Given the description of an element on the screen output the (x, y) to click on. 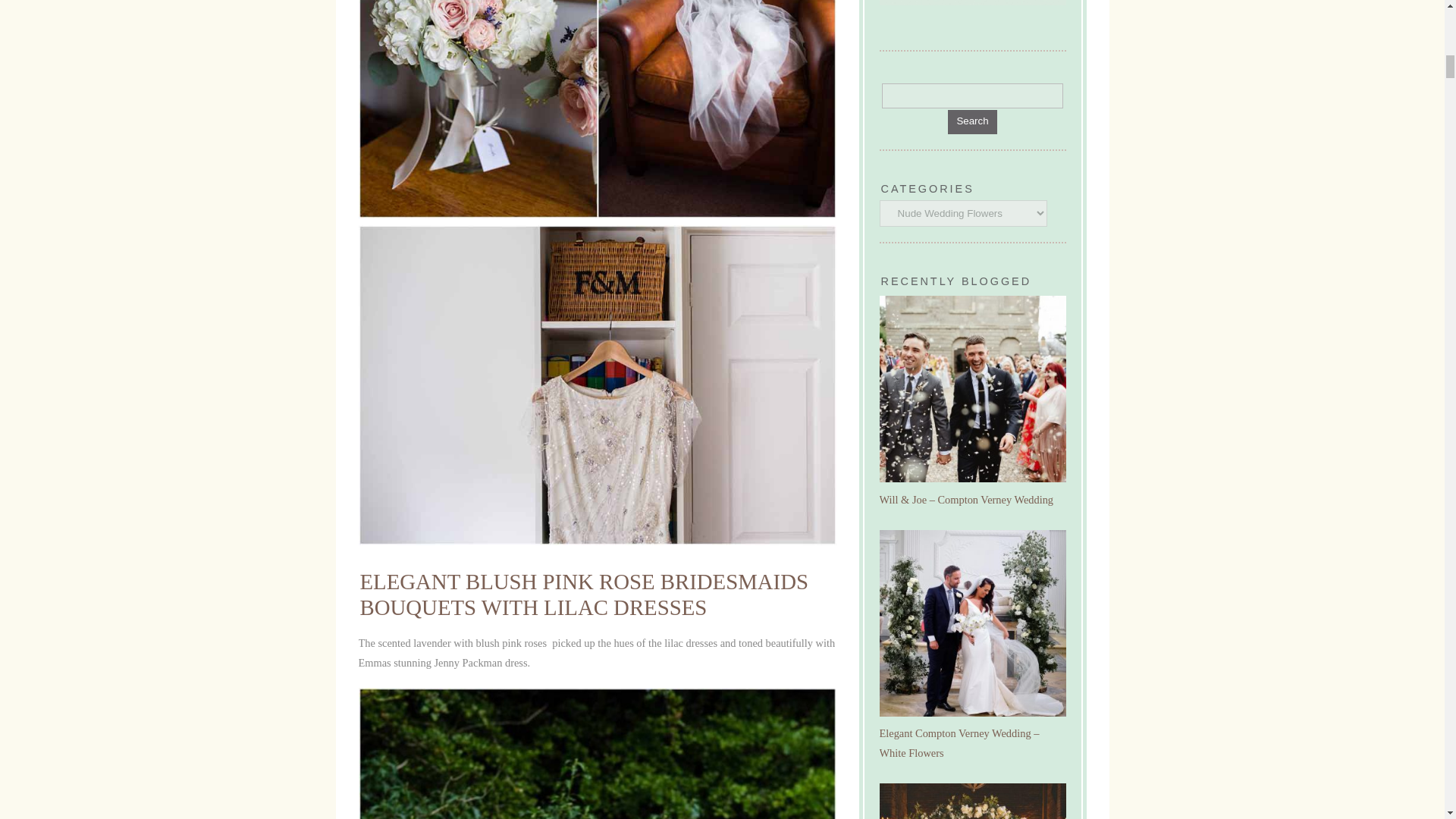
Search (972, 95)
